Given the description of an element on the screen output the (x, y) to click on. 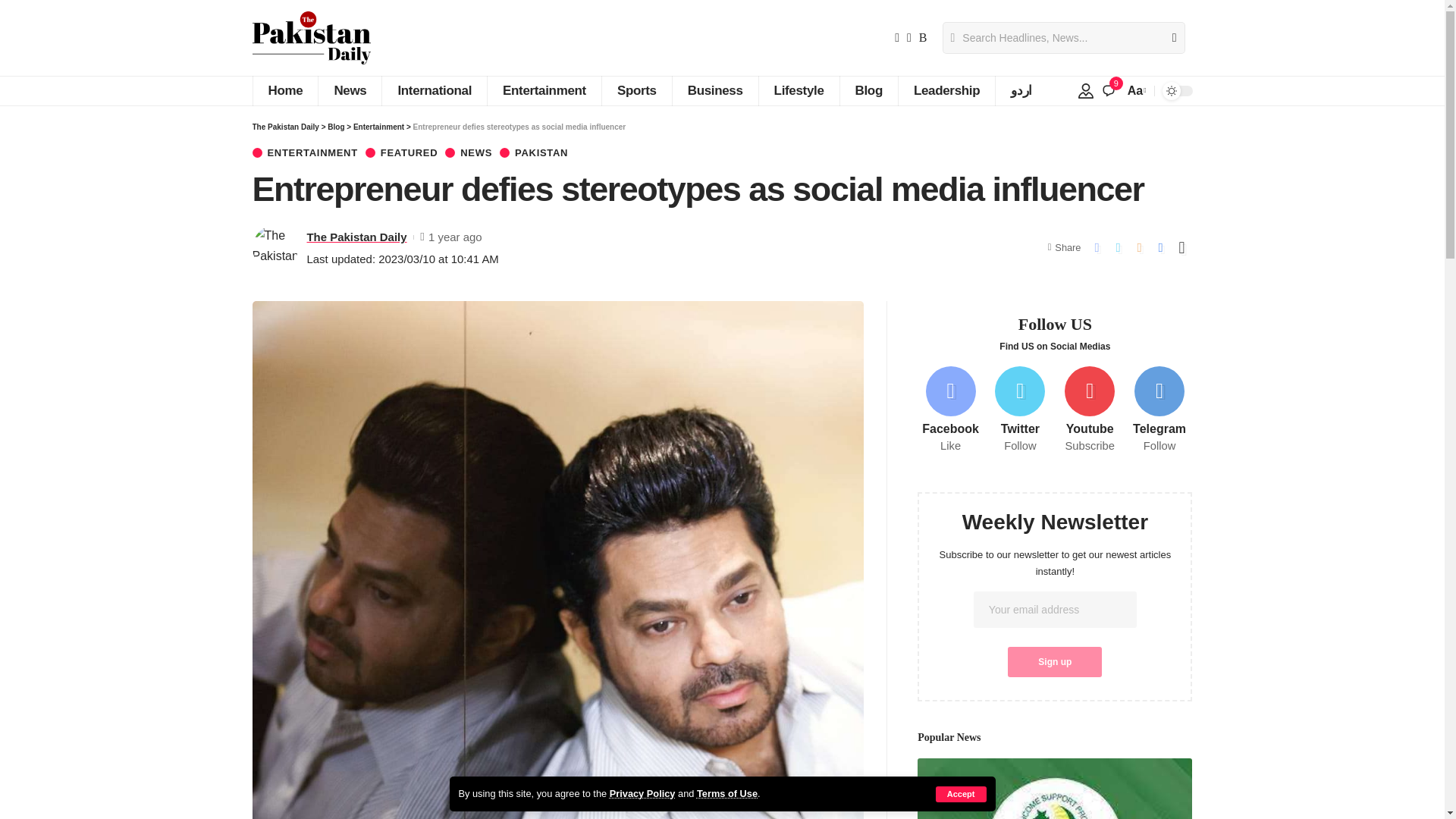
Search (1168, 37)
Terms of Use (727, 793)
Leadership (946, 91)
Sign up (1054, 662)
Go to the Entertainment Category archives. (378, 126)
Blog (869, 91)
Business (714, 91)
Home (284, 91)
9 (1108, 90)
Go to The Pakistan Daily. (284, 126)
Lifestyle (799, 91)
Entertainment (543, 91)
Sports (636, 91)
International (433, 91)
